Given the description of an element on the screen output the (x, y) to click on. 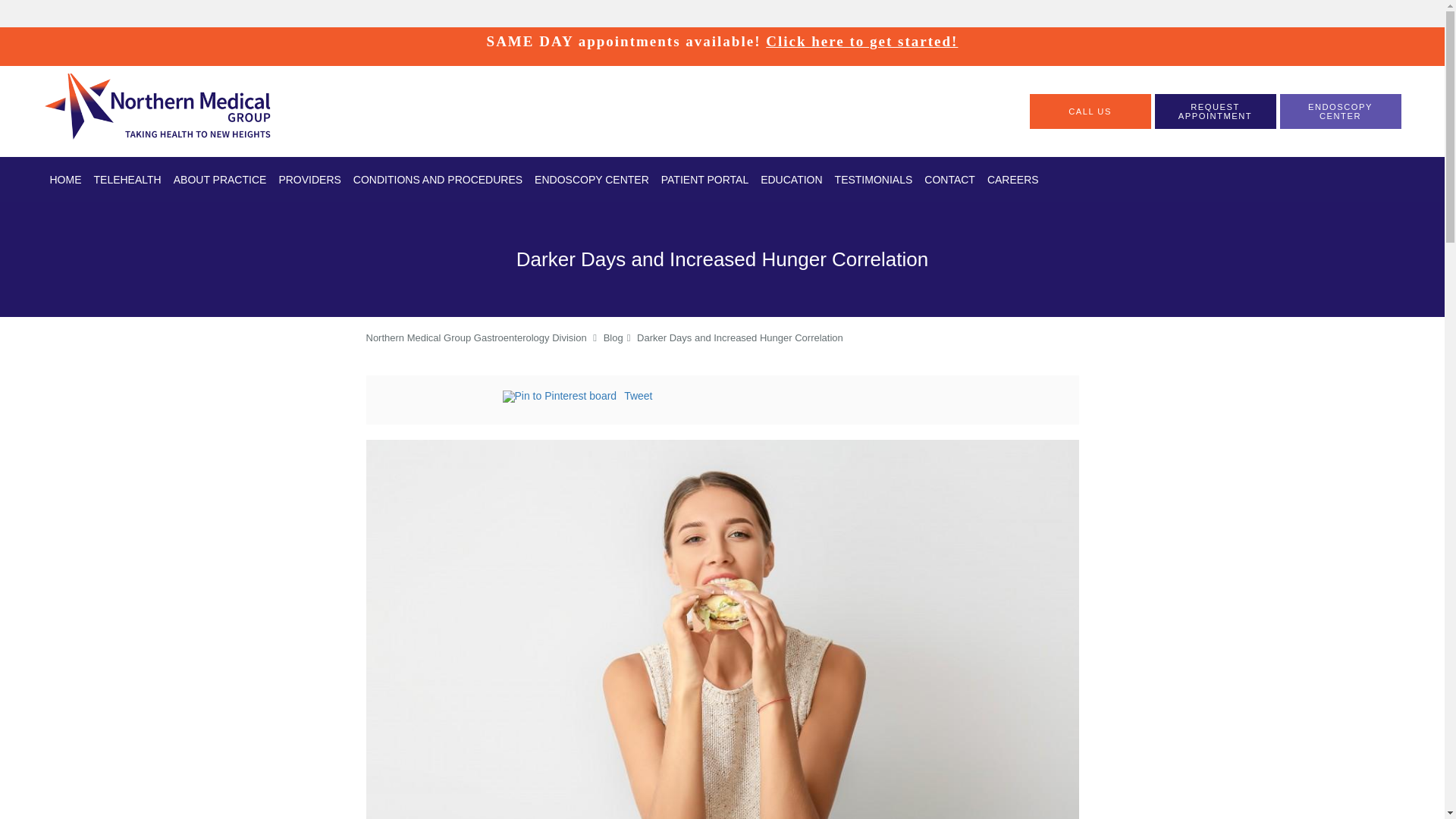
CAREERS (1013, 179)
Darker Days and Increased Hunger Correlation (740, 337)
Blog (613, 337)
PATIENT PORTAL (704, 179)
Tweet (638, 395)
ENDOSCOPY CENTER (1339, 111)
TESTIMONIALS (873, 179)
CALL US (1090, 111)
HOME (65, 179)
CONDITIONS AND PROCEDURES (437, 179)
